Given the description of an element on the screen output the (x, y) to click on. 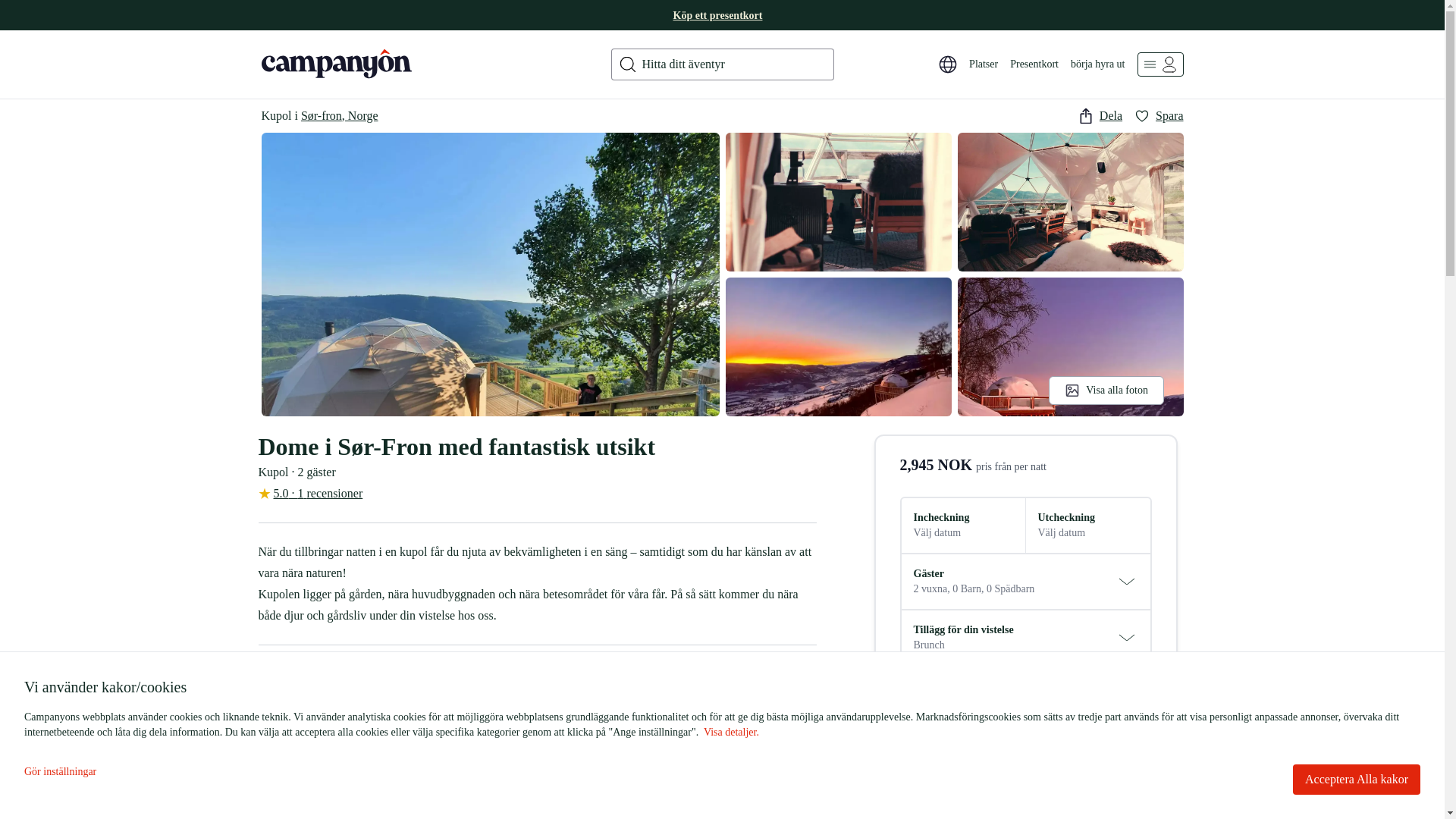
Platser (983, 64)
Presentkort (1034, 64)
